Given the description of an element on the screen output the (x, y) to click on. 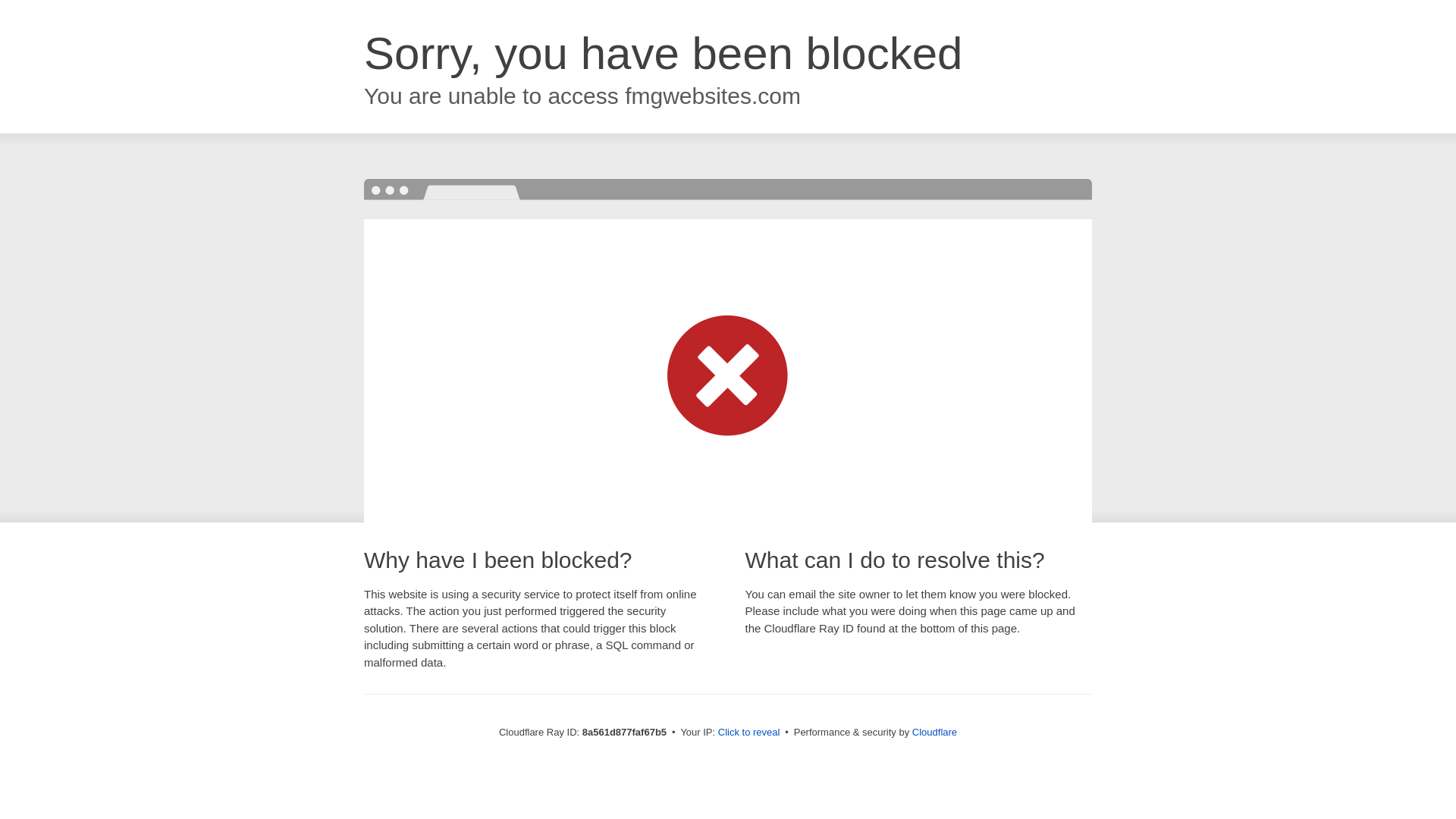
Click to reveal (748, 732)
Cloudflare (934, 731)
